Given the description of an element on the screen output the (x, y) to click on. 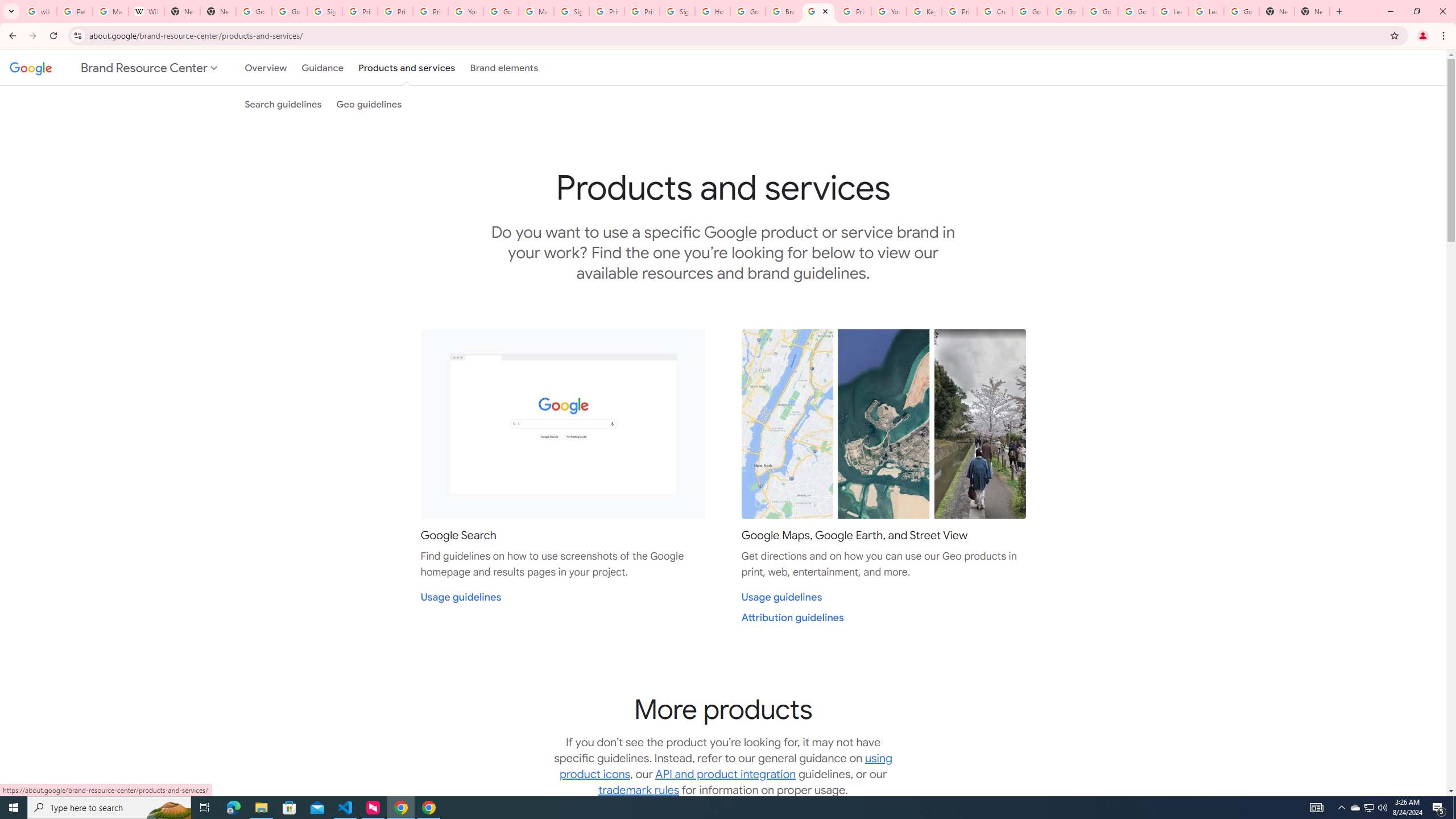
New Tab (218, 11)
Brand Resource Center | Products and Services (817, 11)
Sign in - Google Accounts (324, 11)
